Given the description of an element on the screen output the (x, y) to click on. 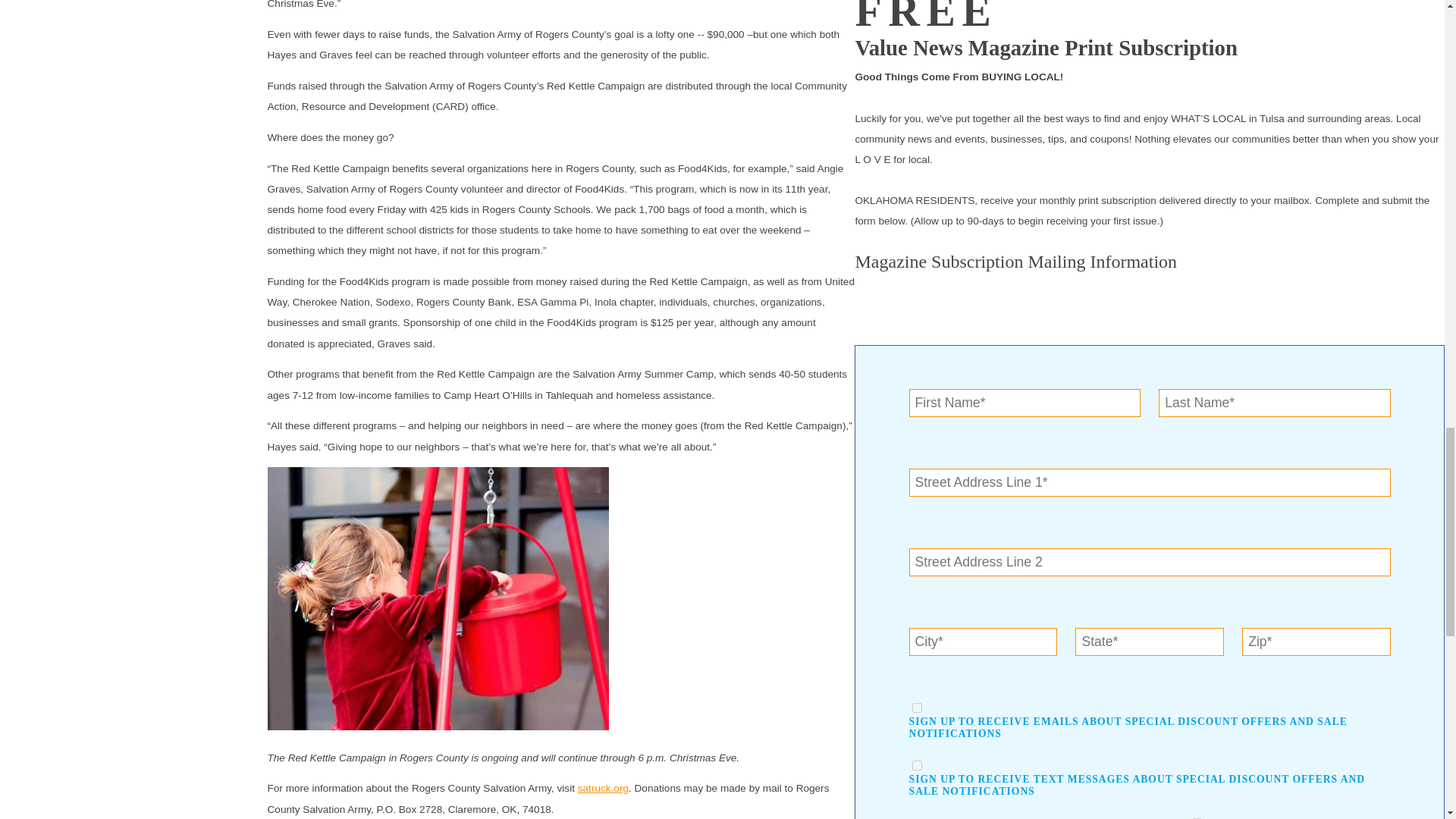
1 (916, 707)
1 (916, 765)
satruck.org (603, 787)
